Given the description of an element on the screen output the (x, y) to click on. 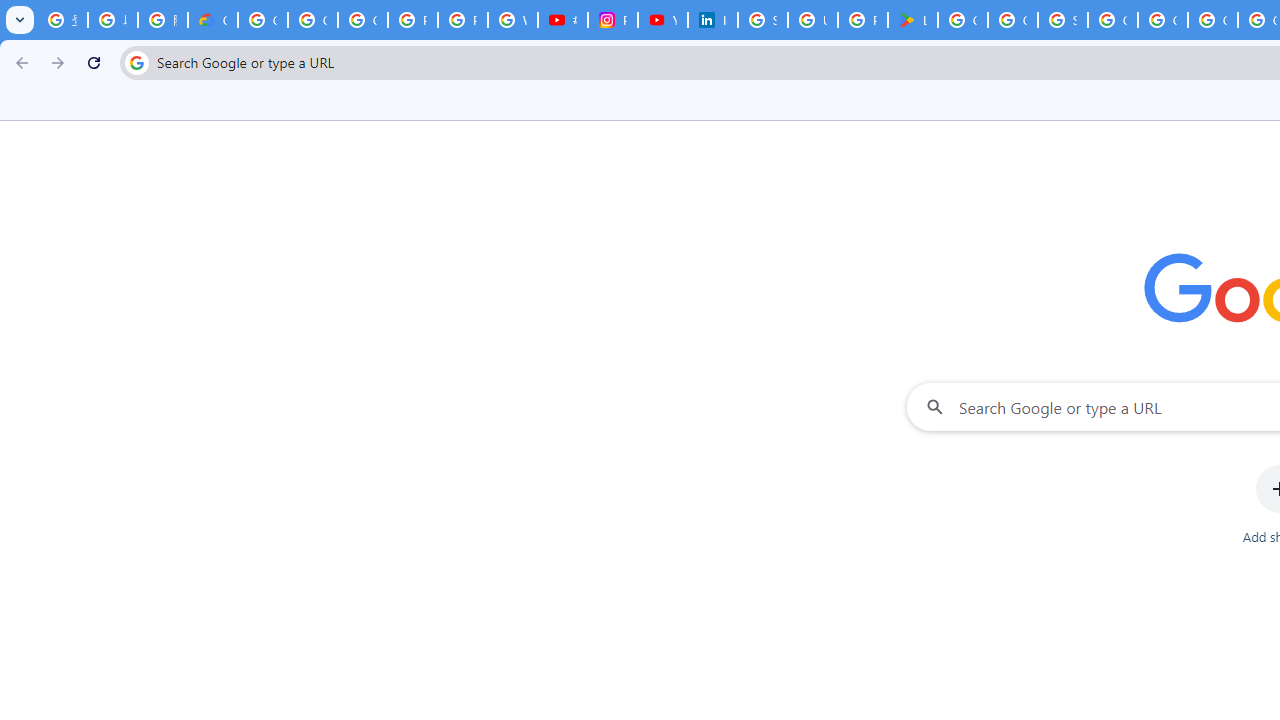
YouTube Culture & Trends - On The Rise: Handcam Videos (662, 20)
#nbabasketballhighlights - YouTube (562, 20)
Sign in - Google Accounts (1062, 20)
